Given the description of an element on the screen output the (x, y) to click on. 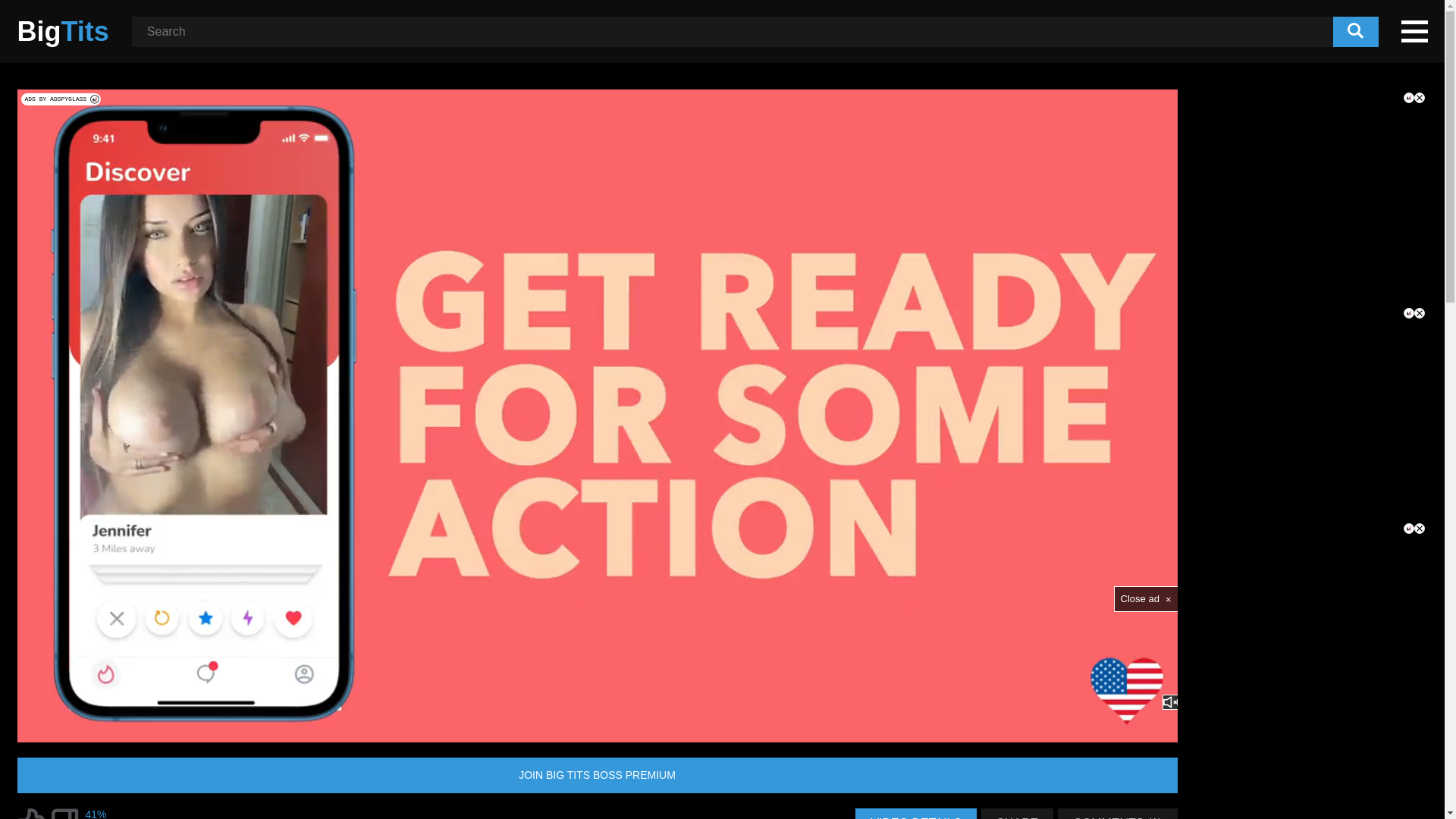
ADS BY ADSPYGLASS Element type: text (61, 99)
BigTits Element type: text (62, 31)
JOIN BIG TITS BOSS PREMIUM Element type: text (596, 775)
Copy to your site Element type: hover (1155, 110)
